Given the description of an element on the screen output the (x, y) to click on. 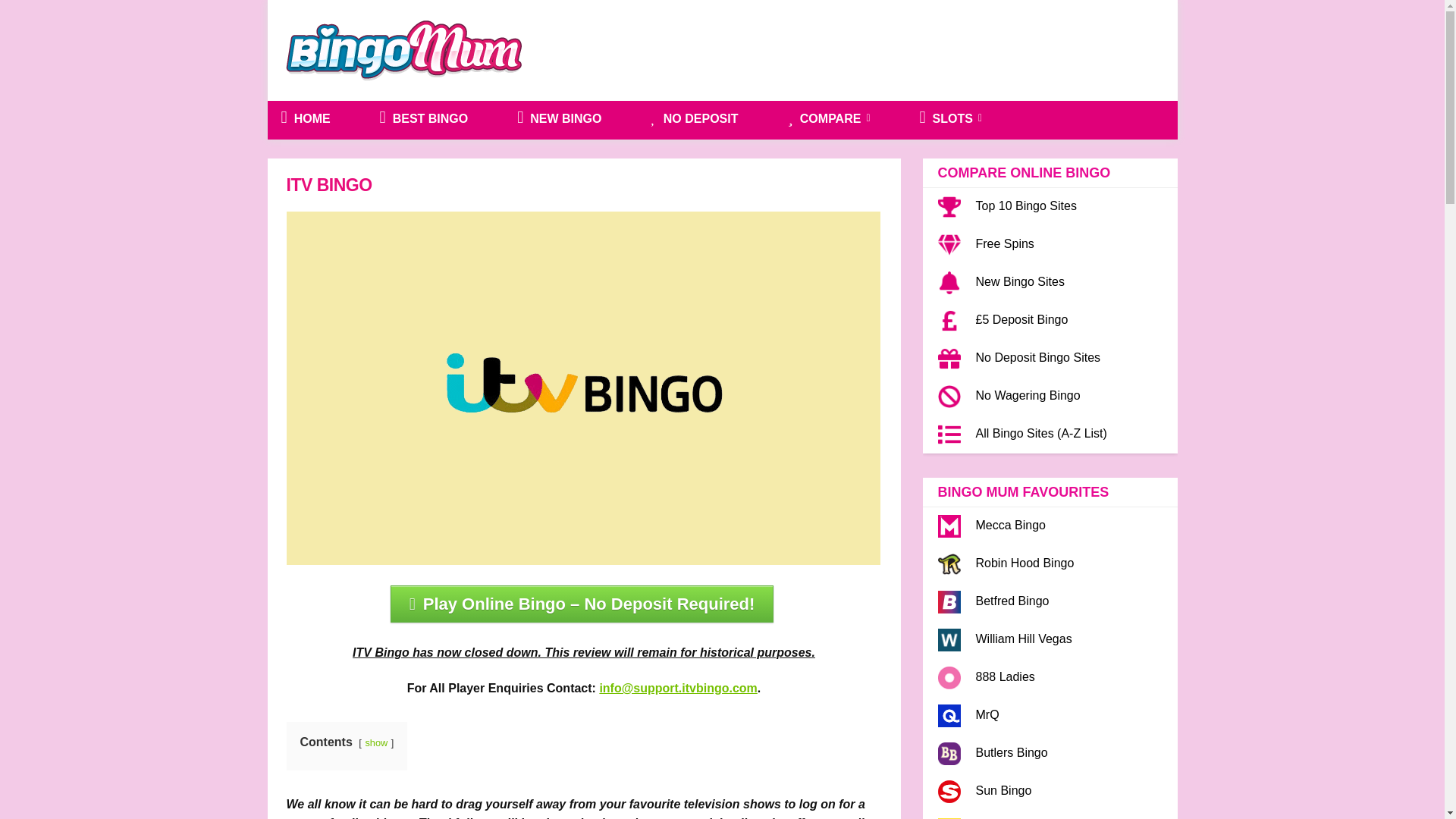
NO DEPOSIT (694, 118)
SLOTS (950, 118)
BEST BINGO (423, 118)
COMPARE (828, 118)
NEW BINGO (558, 118)
HOME (304, 118)
